Given the description of an element on the screen output the (x, y) to click on. 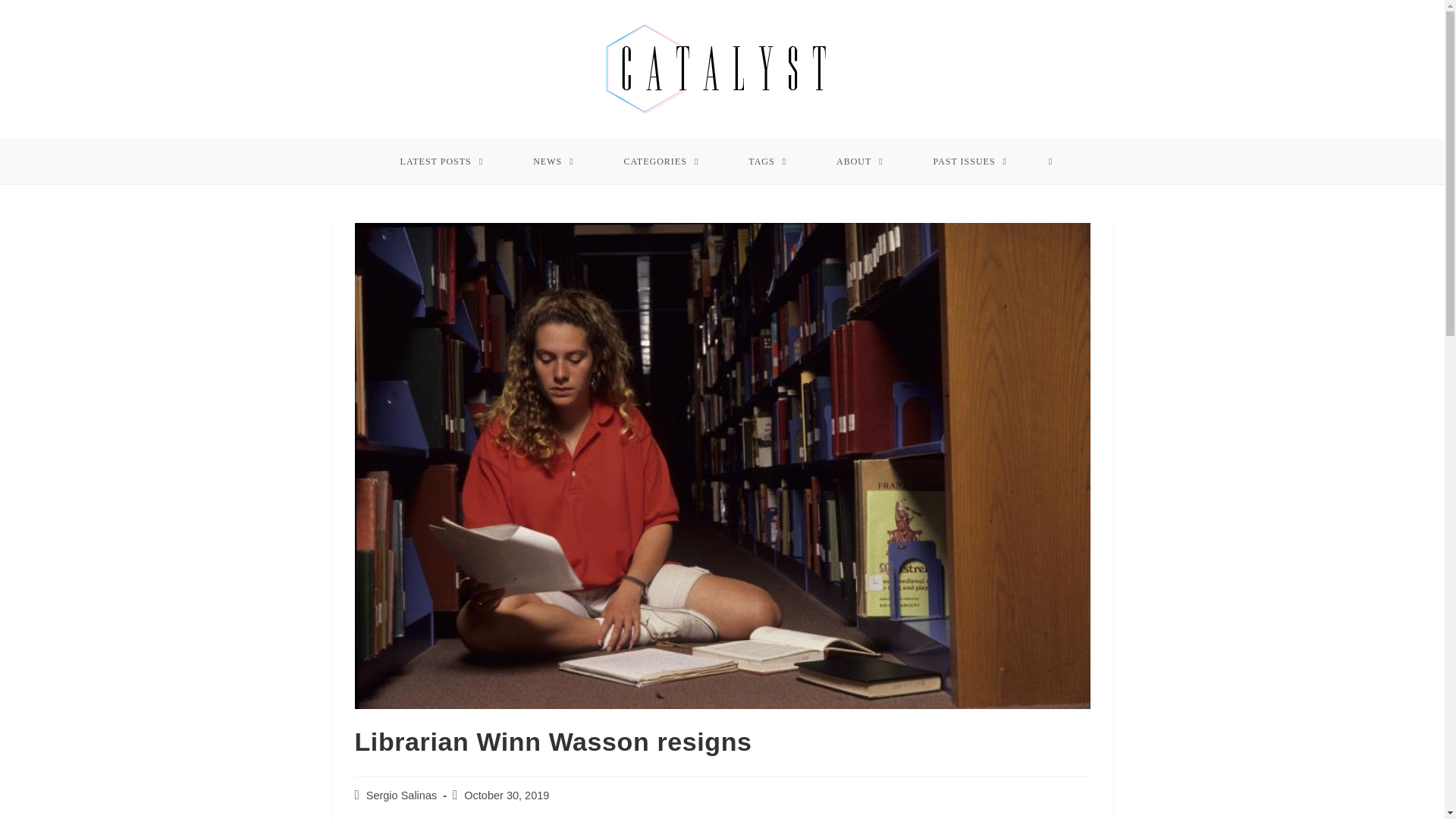
NEWS (553, 161)
PAST ISSUES (970, 161)
ABOUT (859, 161)
Sergio Salinas (402, 795)
Posts by Sergio Salinas (402, 795)
LATEST POSTS (441, 161)
TAGS (766, 161)
CATEGORIES (660, 161)
